Given the description of an element on the screen output the (x, y) to click on. 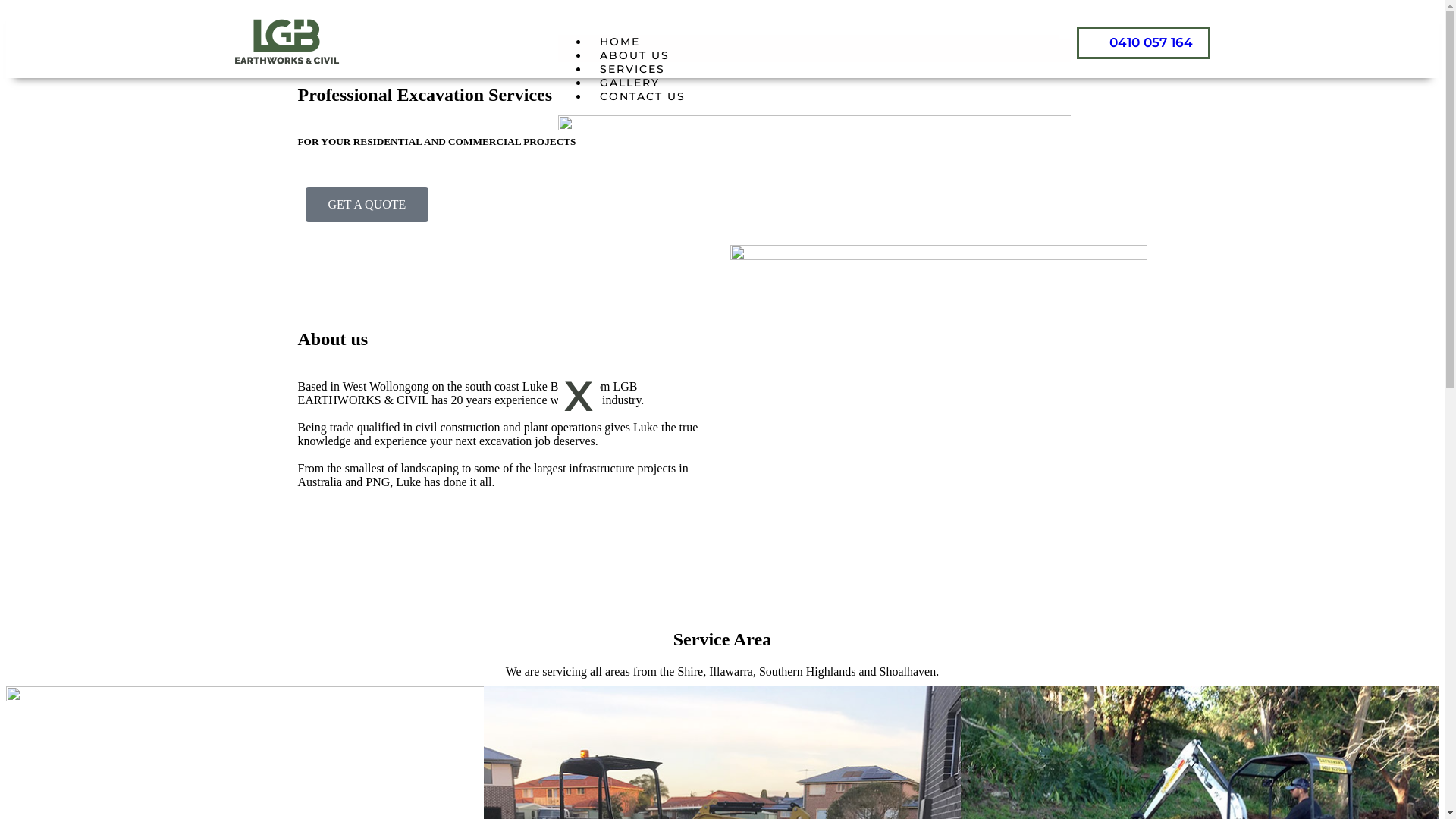
LBG_Logo_col Element type: hover (285, 42)
X Element type: text (579, 395)
CONTACT US Element type: text (642, 96)
HOME Element type: text (619, 41)
SERVICES Element type: text (632, 68)
ABOUT US Element type: text (634, 55)
0410 057 164 Element type: text (1143, 42)
GET A QUOTE Element type: text (366, 204)
GALLERY Element type: text (629, 82)
